Given the description of an element on the screen output the (x, y) to click on. 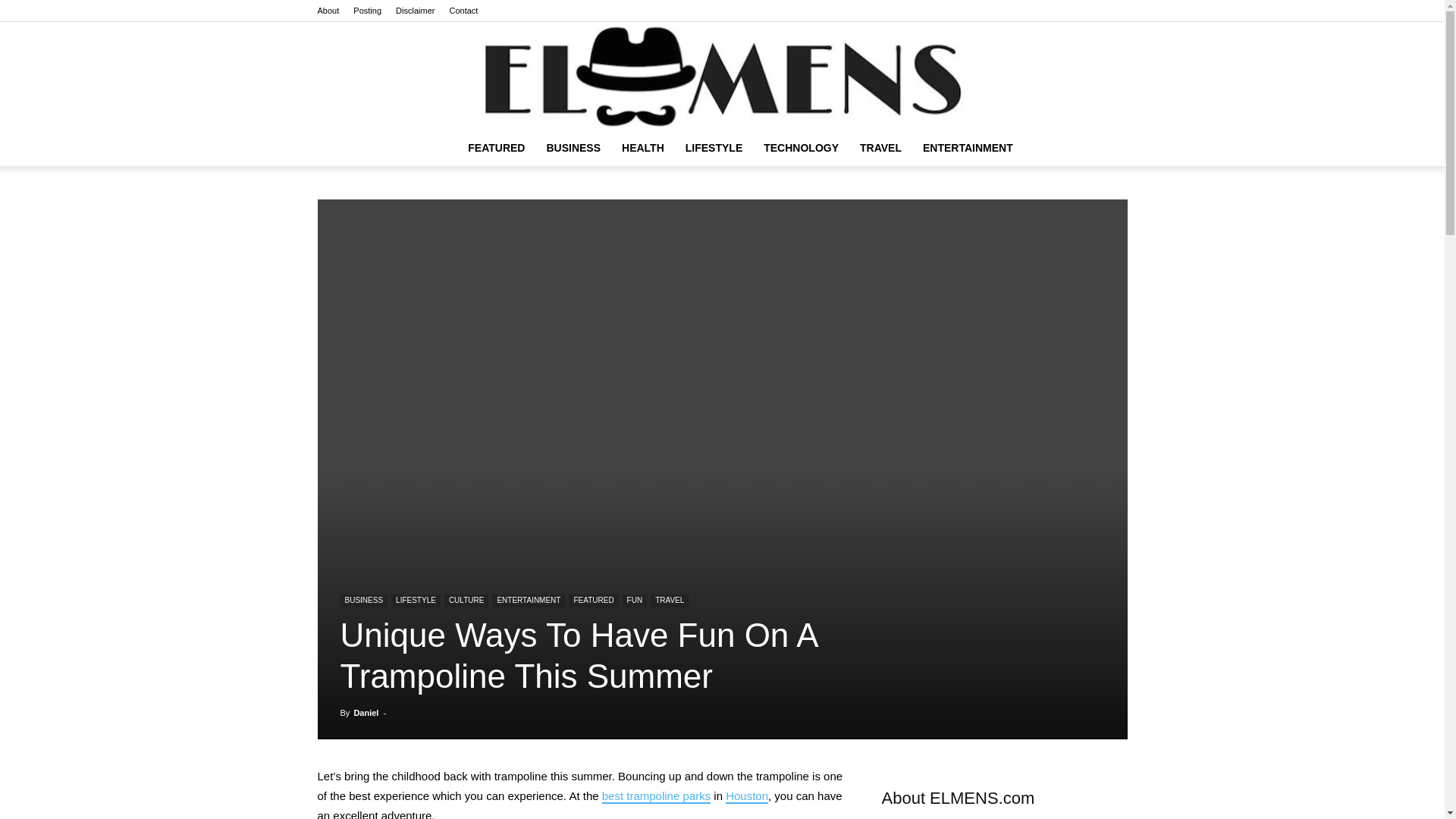
LIFESTYLE (713, 147)
CATEGORIES (496, 147)
elmenslogo (721, 75)
